Given the description of an element on the screen output the (x, y) to click on. 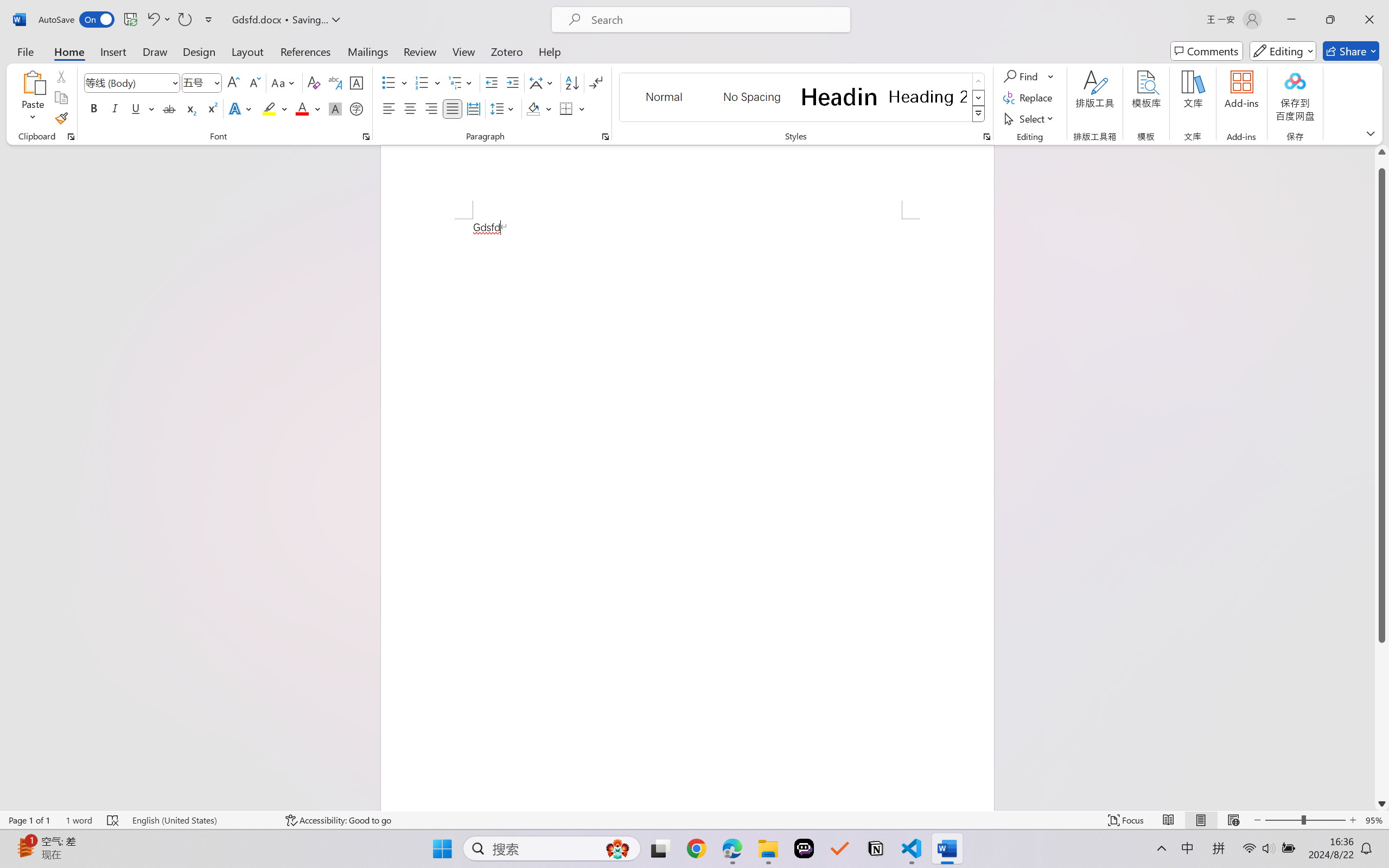
Microsoft search (715, 19)
Repeat Style (184, 19)
Styles... (986, 136)
Align Left (388, 108)
Phonetic Guide... (334, 82)
Multilevel List (461, 82)
